Given the description of an element on the screen output the (x, y) to click on. 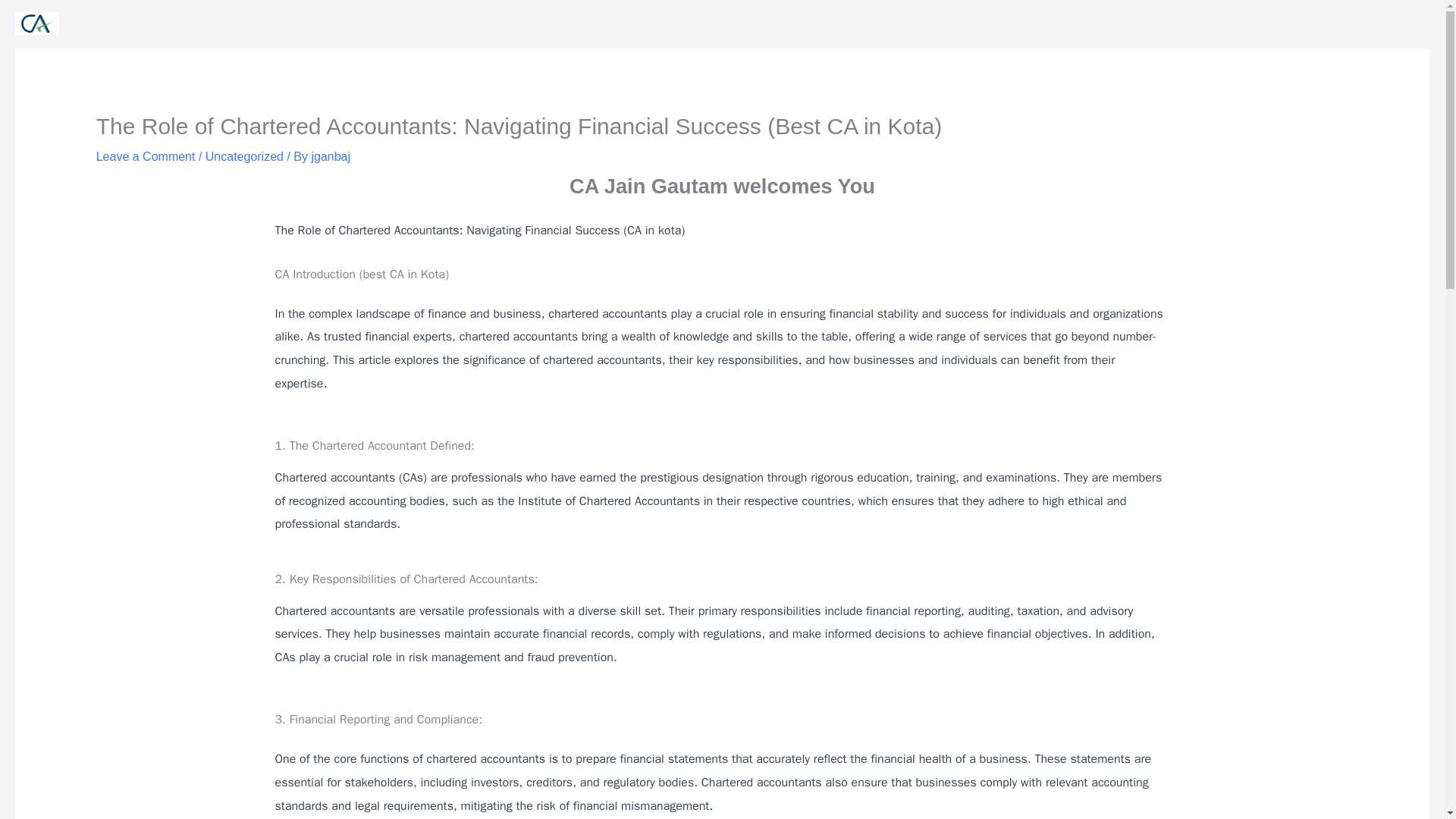
Blog (1404, 23)
Home (1053, 23)
About (1108, 23)
View all posts by jganbaj (330, 155)
Contact (1347, 23)
Services (1172, 23)
Leave a Comment (145, 155)
jganbaj (330, 155)
Why choose us (1260, 23)
Uncategorized (244, 155)
